Given the description of an element on the screen output the (x, y) to click on. 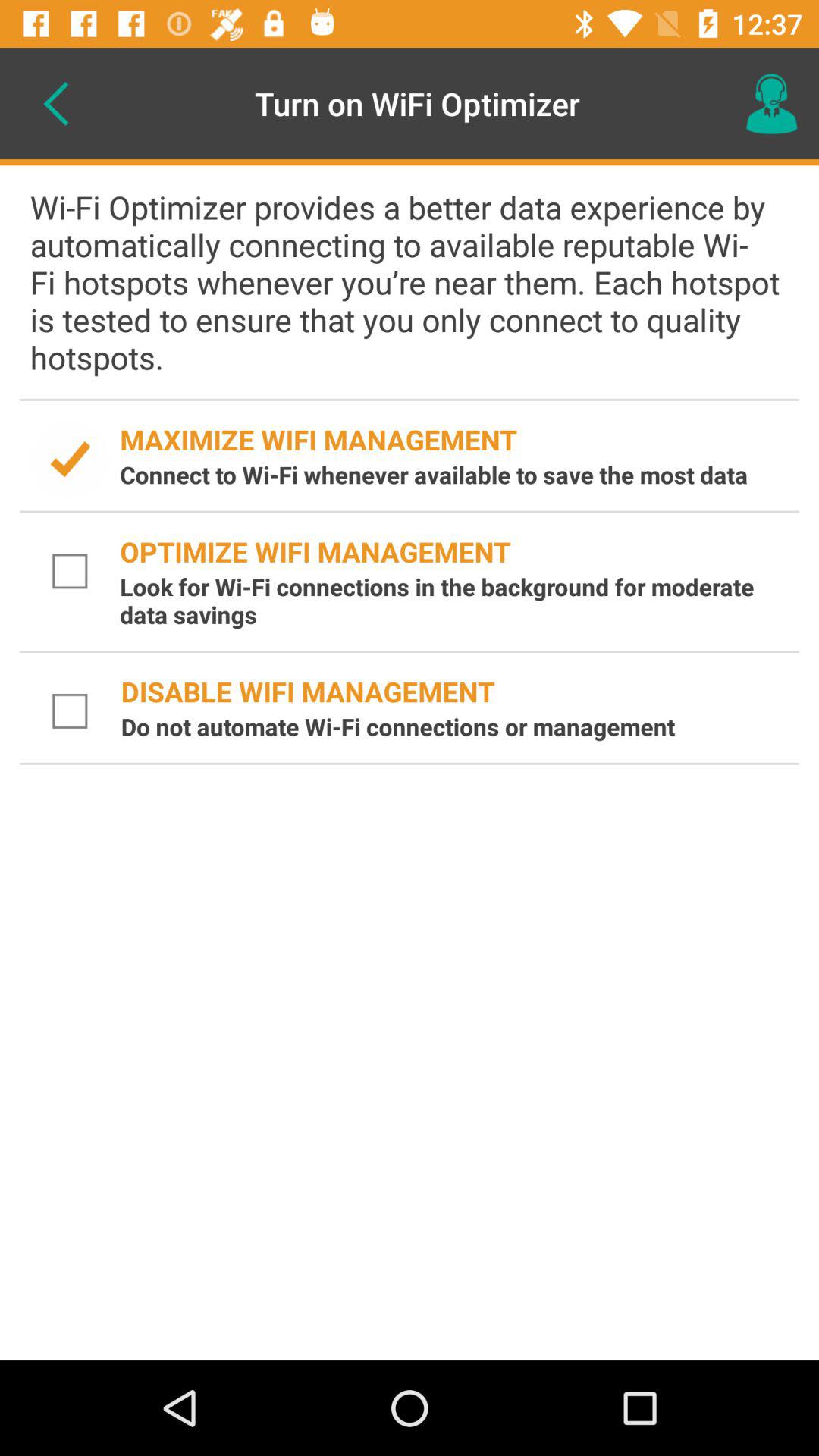
select the item to the left of turn on wifi (55, 103)
